Given the description of an element on the screen output the (x, y) to click on. 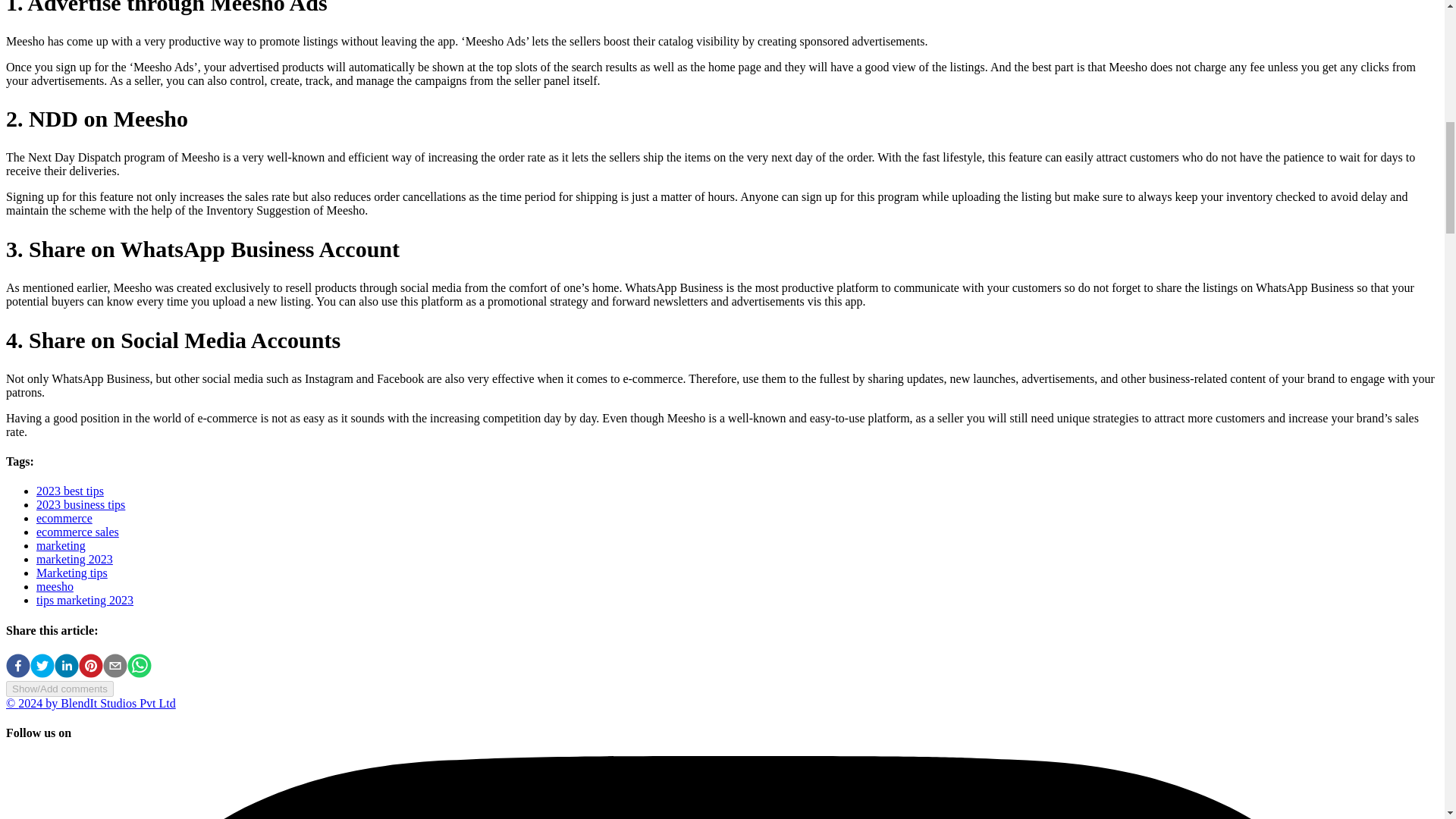
marketing (60, 545)
Marketing tips (71, 572)
ecommerce (64, 517)
meesho (55, 585)
2023 best tips (69, 490)
tips marketing 2023 (84, 599)
2023 business tips (80, 504)
ecommerce sales (77, 531)
marketing 2023 (74, 558)
